Given the description of an element on the screen output the (x, y) to click on. 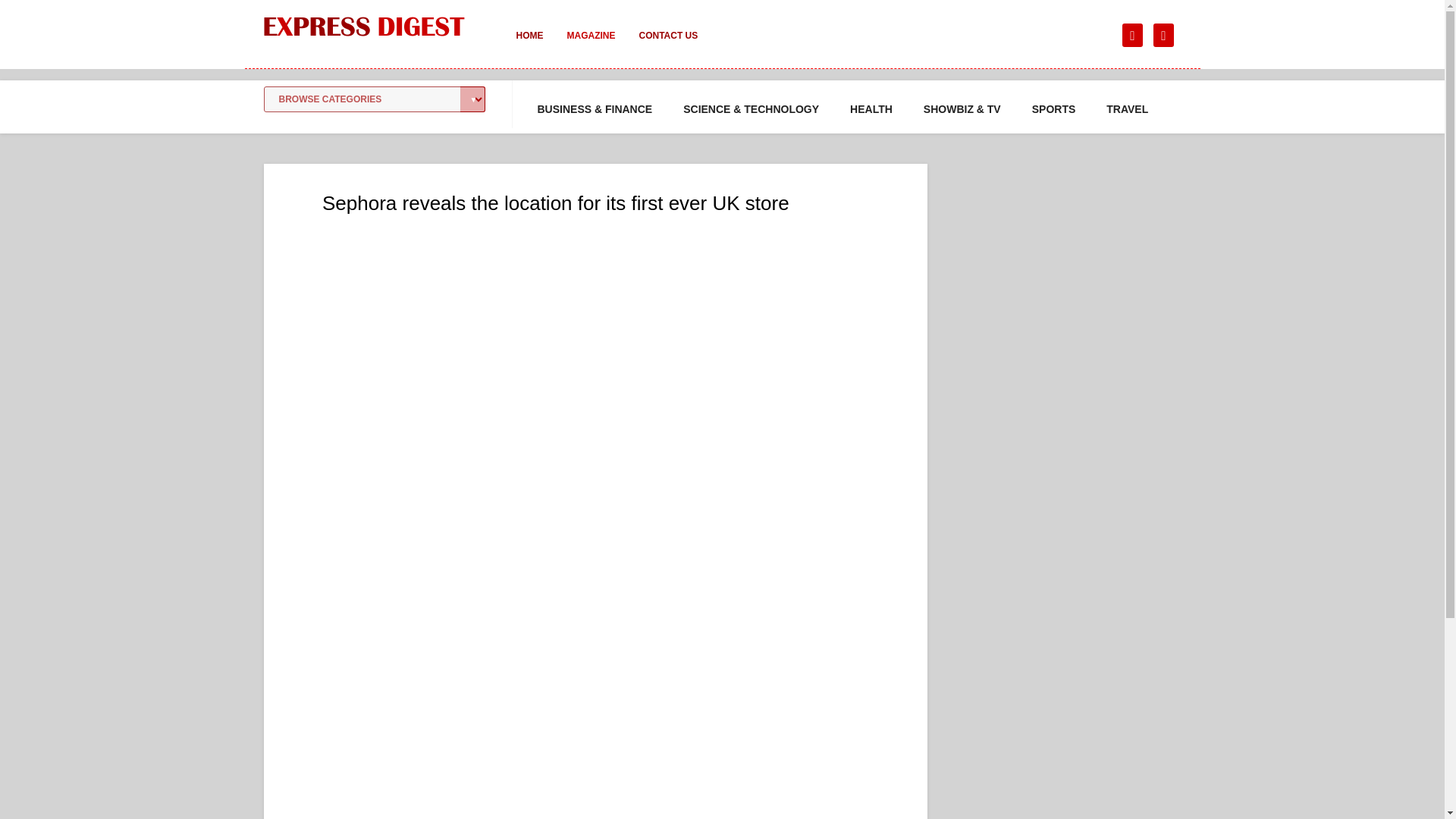
TRAVEL (1127, 109)
MAGAZINE (590, 45)
SPORTS (1053, 109)
HEALTH (871, 109)
CONTACT US (667, 45)
